Given the description of an element on the screen output the (x, y) to click on. 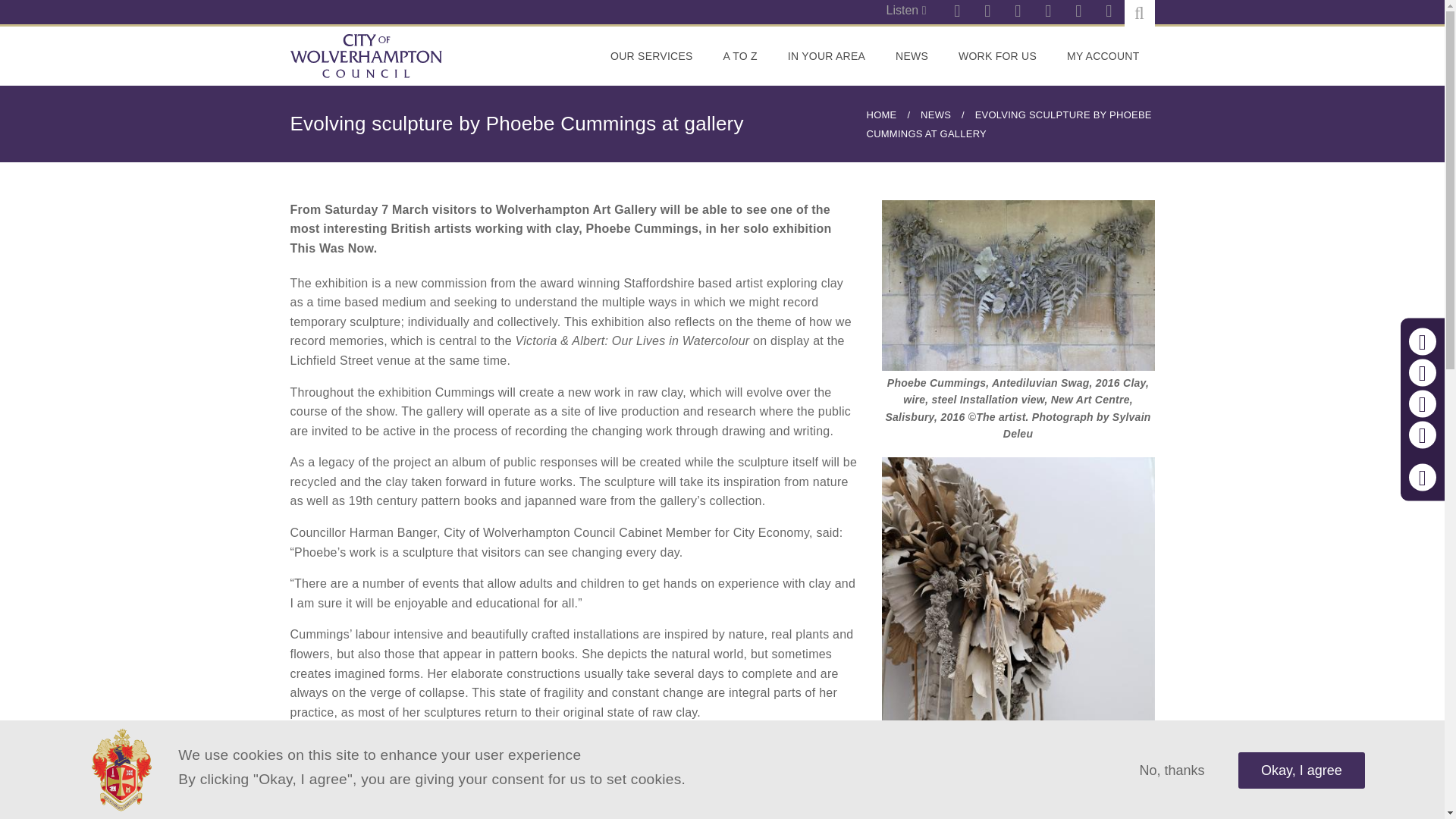
Flickr (1017, 12)
NEWS (911, 56)
Youtube (957, 12)
Sign in to My Account (1102, 56)
Facebook (1077, 12)
A to Z (740, 56)
Reset (1422, 402)
LinkedIn (1108, 12)
Decrease font size (1422, 372)
MY ACCOUNT (1102, 56)
